Given the description of an element on the screen output the (x, y) to click on. 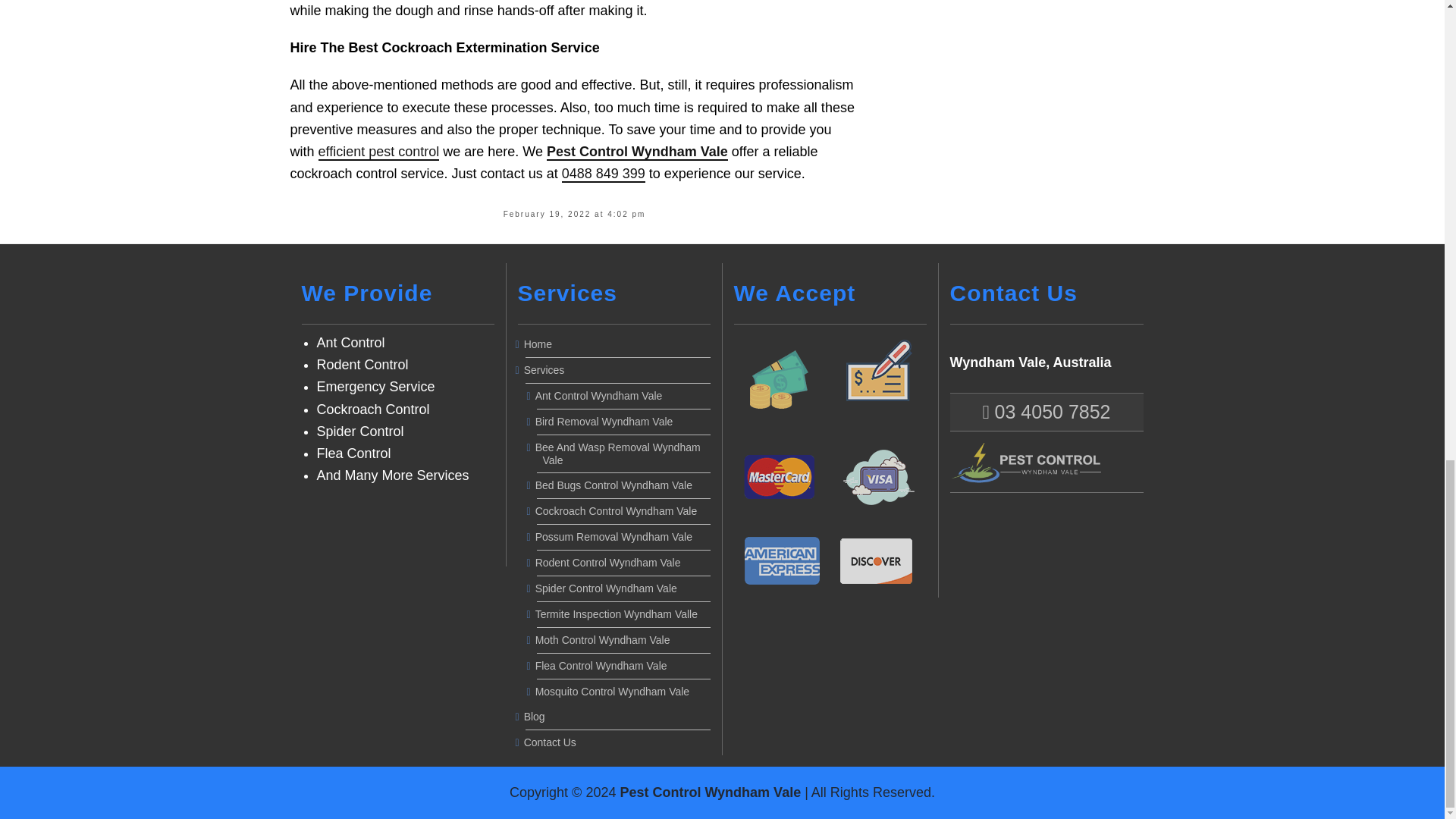
efficient pest control (378, 152)
